Given the description of an element on the screen output the (x, y) to click on. 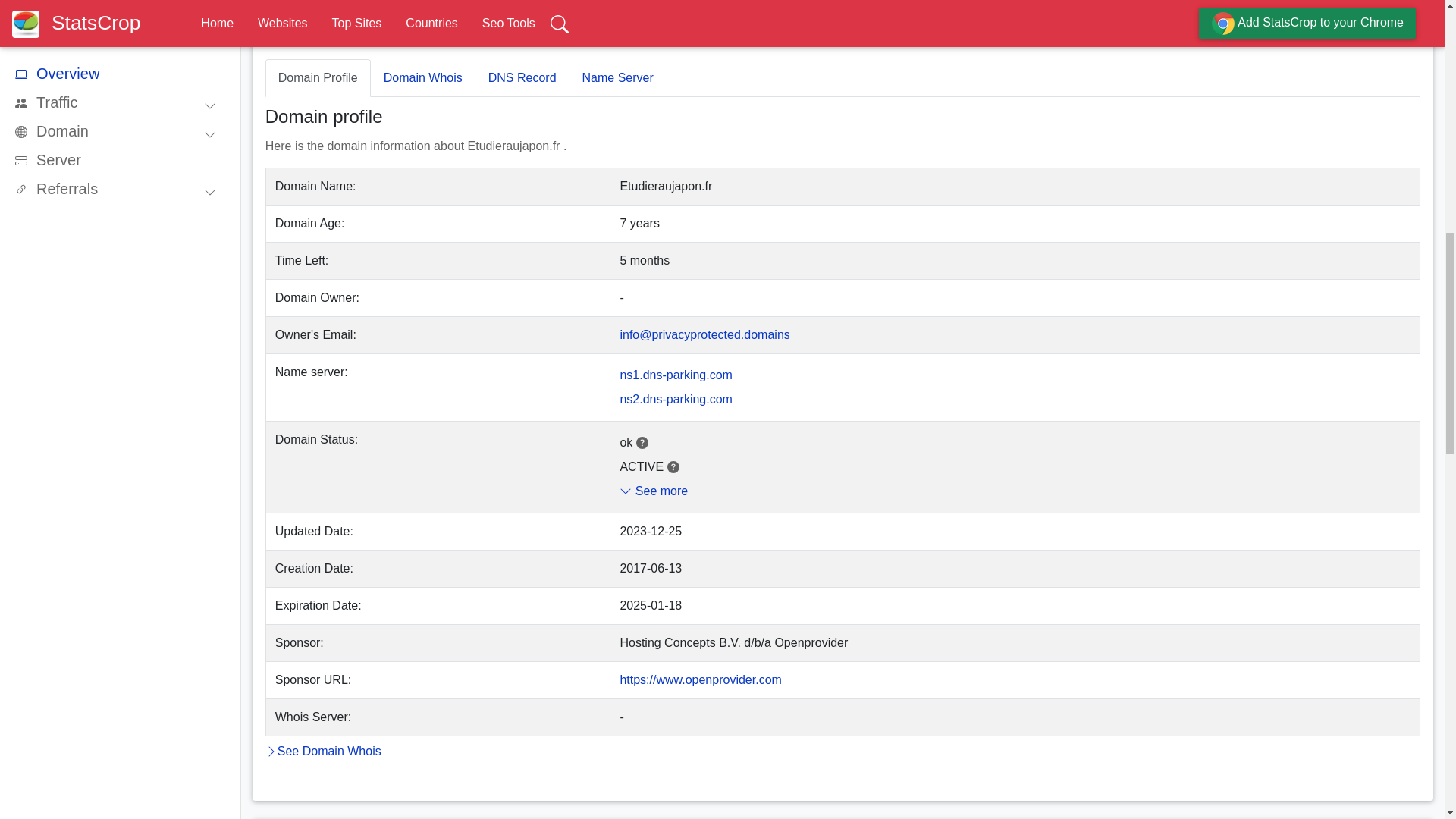
ns1.dns-parking.com (676, 374)
Name Server (617, 77)
DNS Record (522, 77)
ns2.dns-parking.com (676, 399)
Domain Profile (317, 77)
Domain Whois (423, 77)
